Given the description of an element on the screen output the (x, y) to click on. 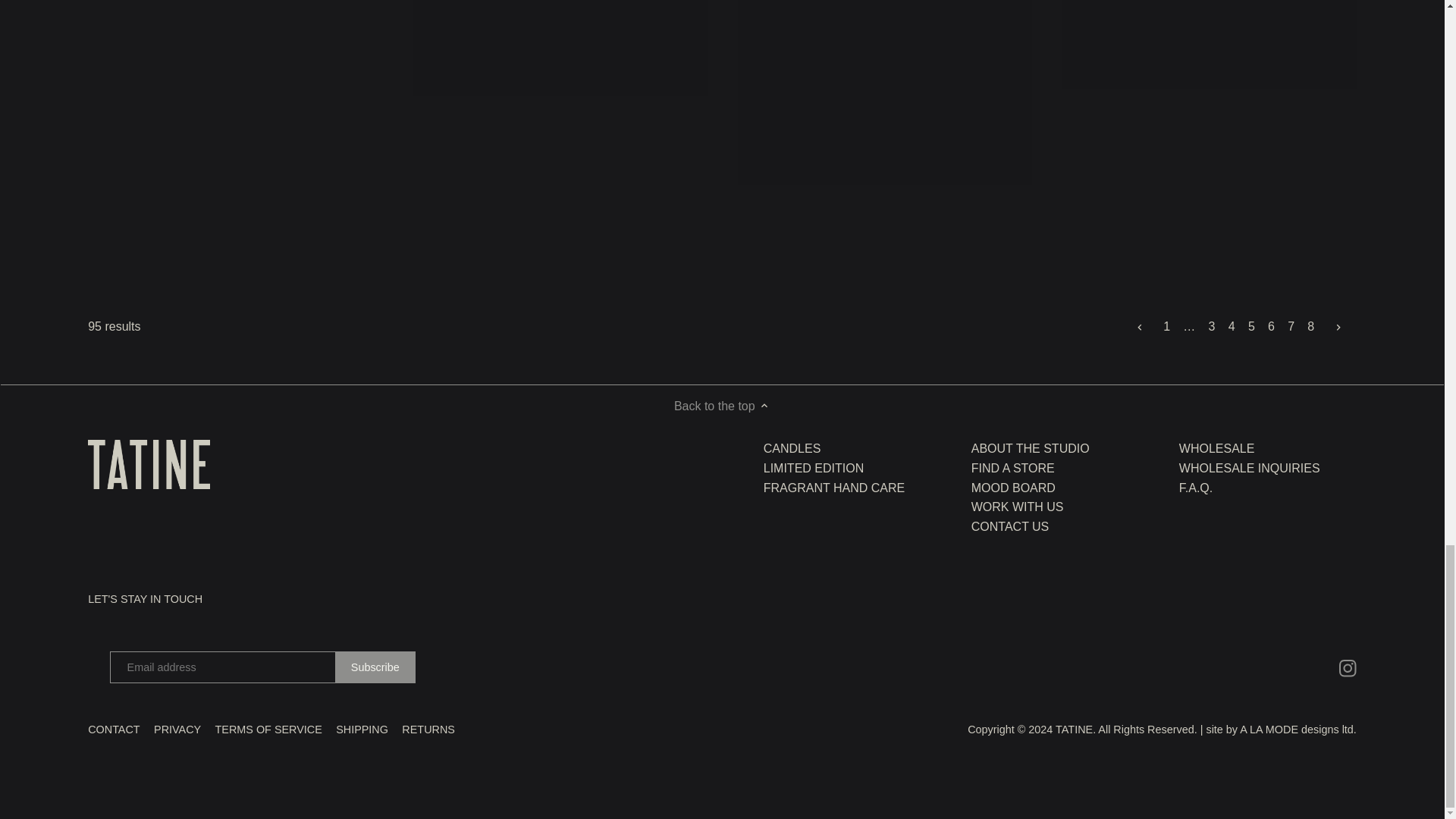
Instagram (1347, 668)
Left (1139, 327)
Right (1337, 327)
Subscribe (374, 667)
